Given the description of an element on the screen output the (x, y) to click on. 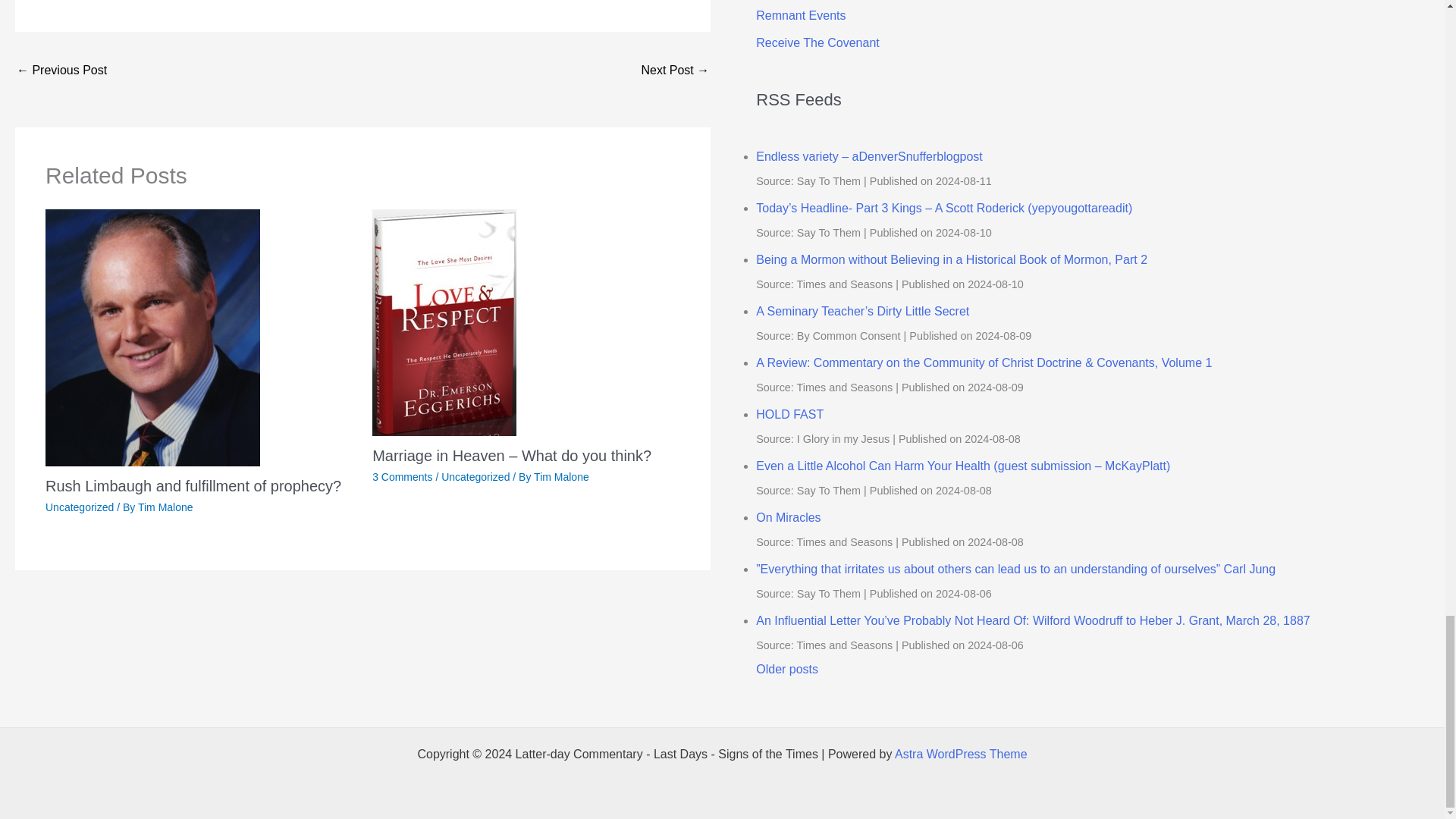
View all posts by Tim Malone (561, 476)
Healing from pornography addiction (674, 71)
View all posts by Tim Malone (165, 507)
Is homosexuality a sin or a biological fact? (61, 71)
